Given the description of an element on the screen output the (x, y) to click on. 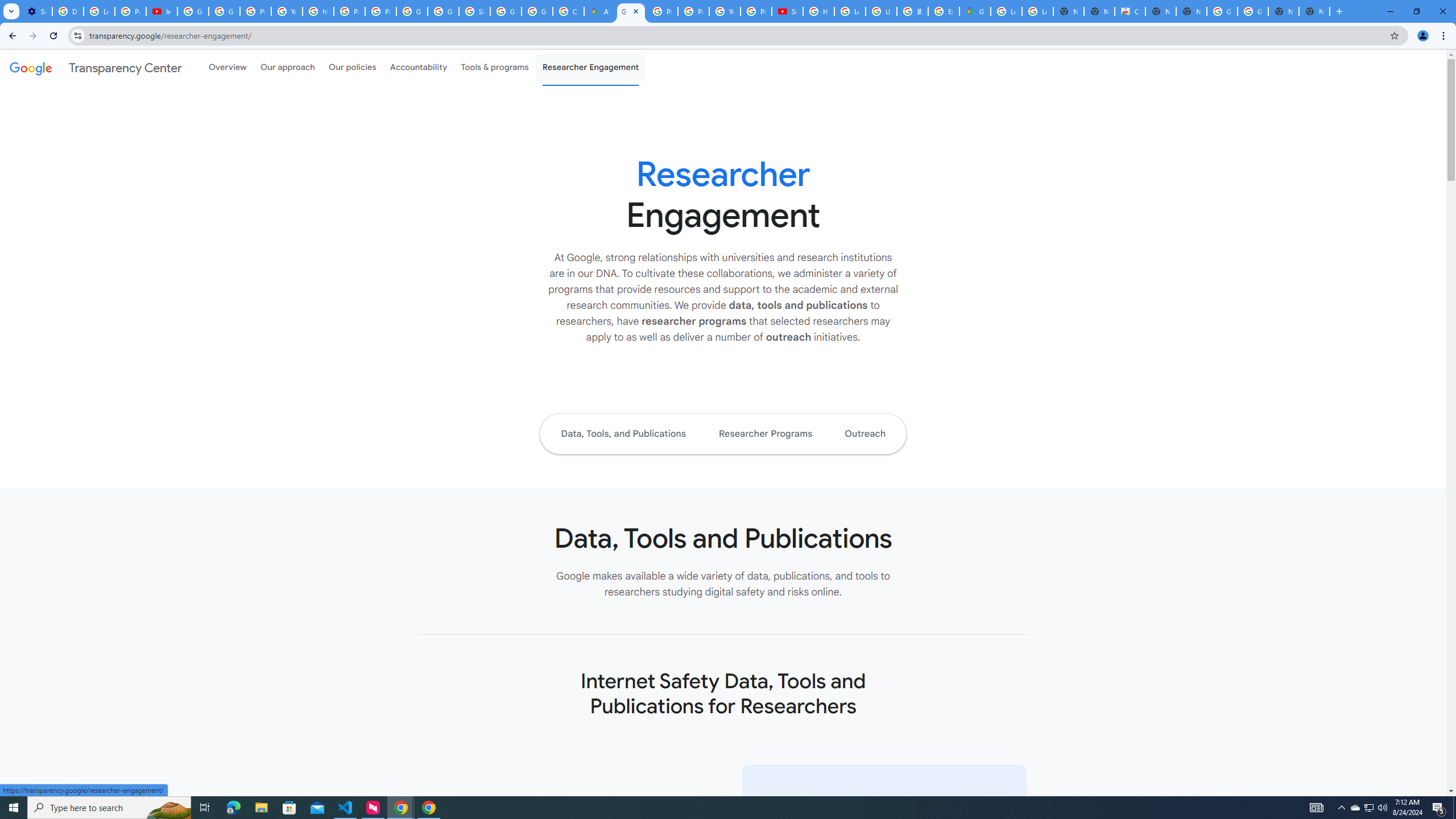
How Chrome protects your passwords - Google Chrome Help (818, 11)
Google Images (1222, 11)
Researcher Programs (764, 433)
Our approach (287, 67)
YouTube (286, 11)
Google Researcher Engagement - Transparency Center (631, 11)
